Given the description of an element on the screen output the (x, y) to click on. 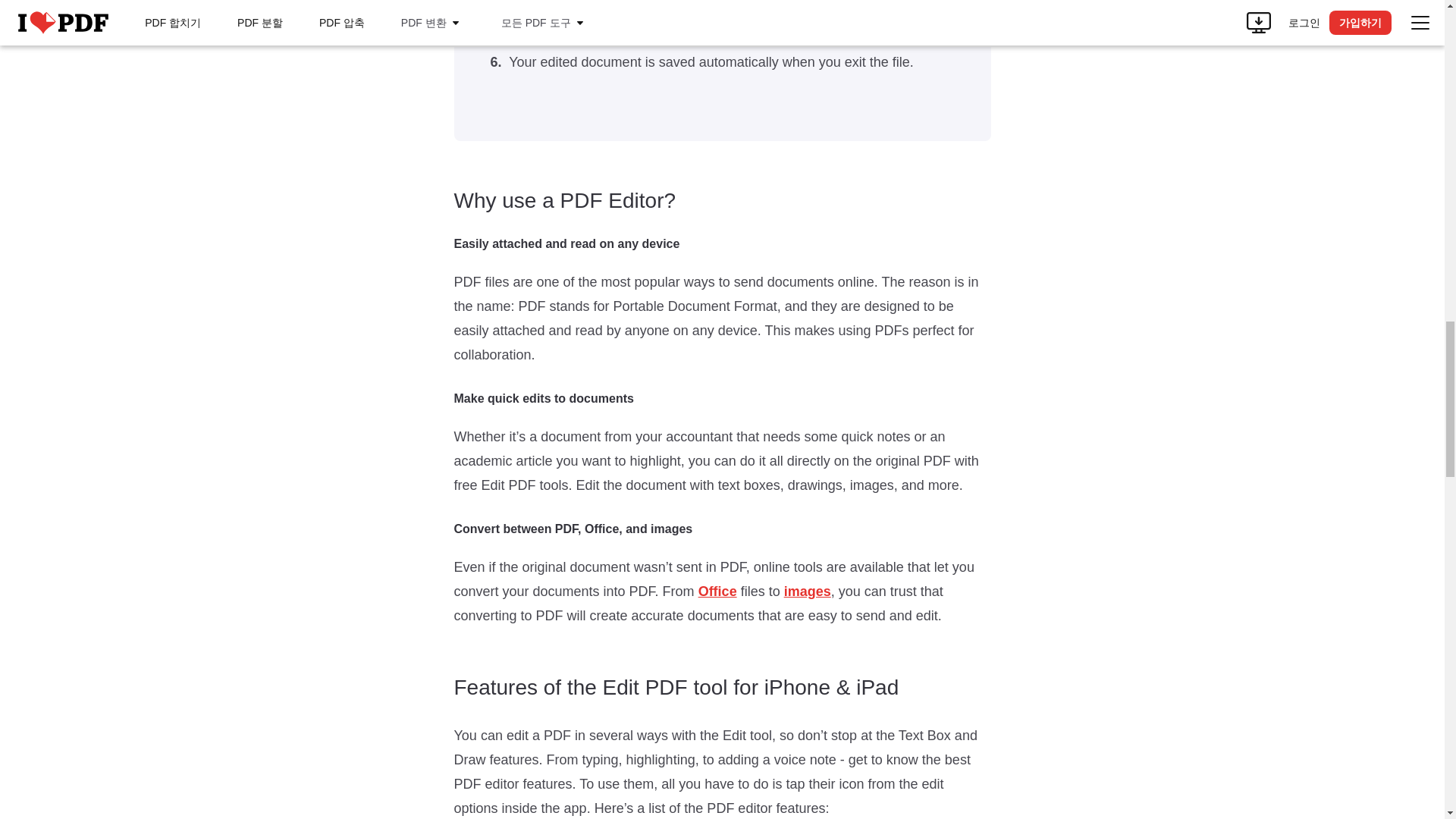
Convert Office with iLovePDF (717, 590)
Convert images with iLovePDF (807, 590)
